Given the description of an element on the screen output the (x, y) to click on. 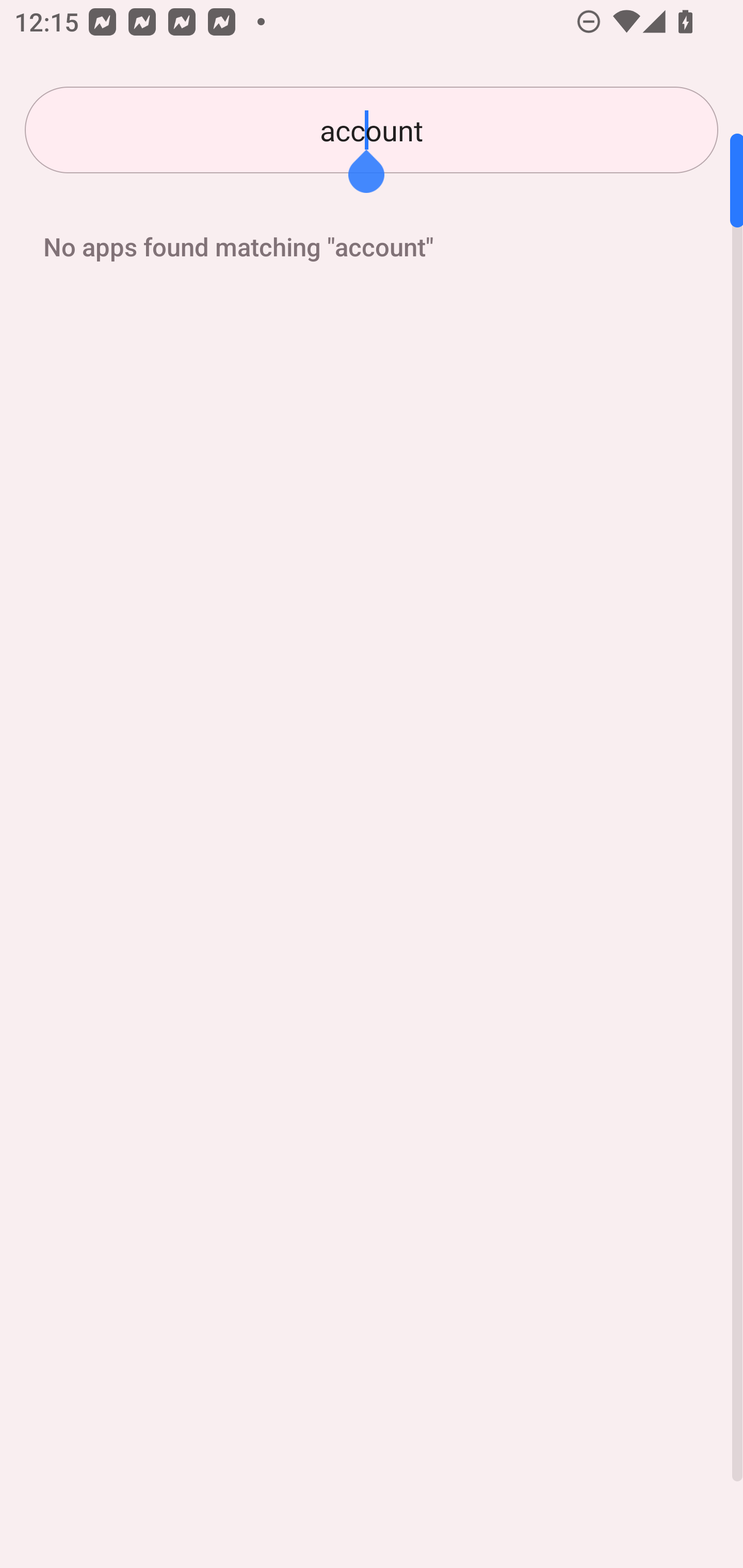
account (371, 130)
